Given the description of an element on the screen output the (x, y) to click on. 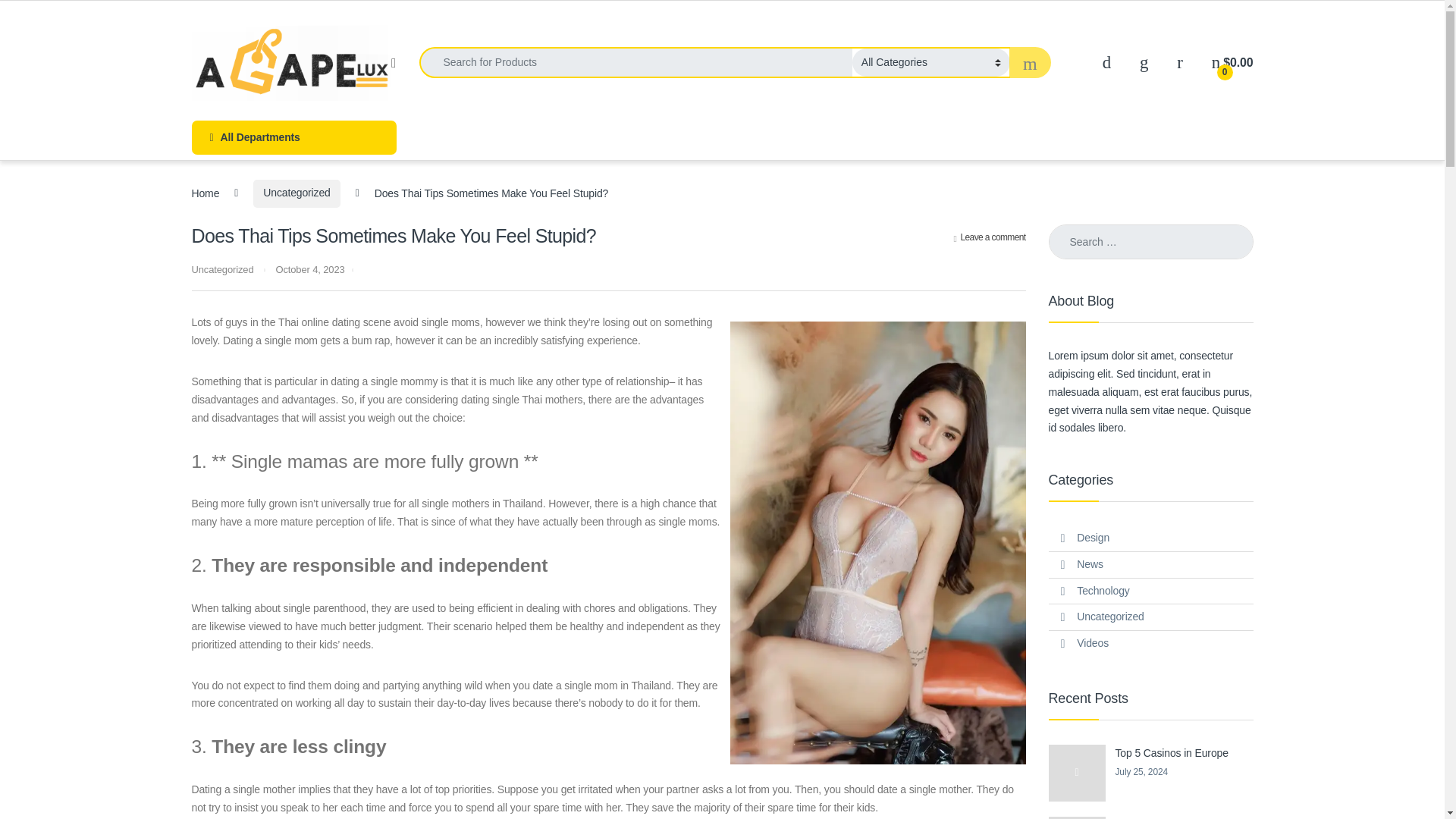
Leave a comment (989, 237)
October 4, 2023 (309, 269)
News (1089, 565)
Home (204, 192)
Uncategorized (221, 269)
Search (29, 17)
Design (1093, 538)
Uncategorized (296, 193)
All Departments (293, 137)
